Given the description of an element on the screen output the (x, y) to click on. 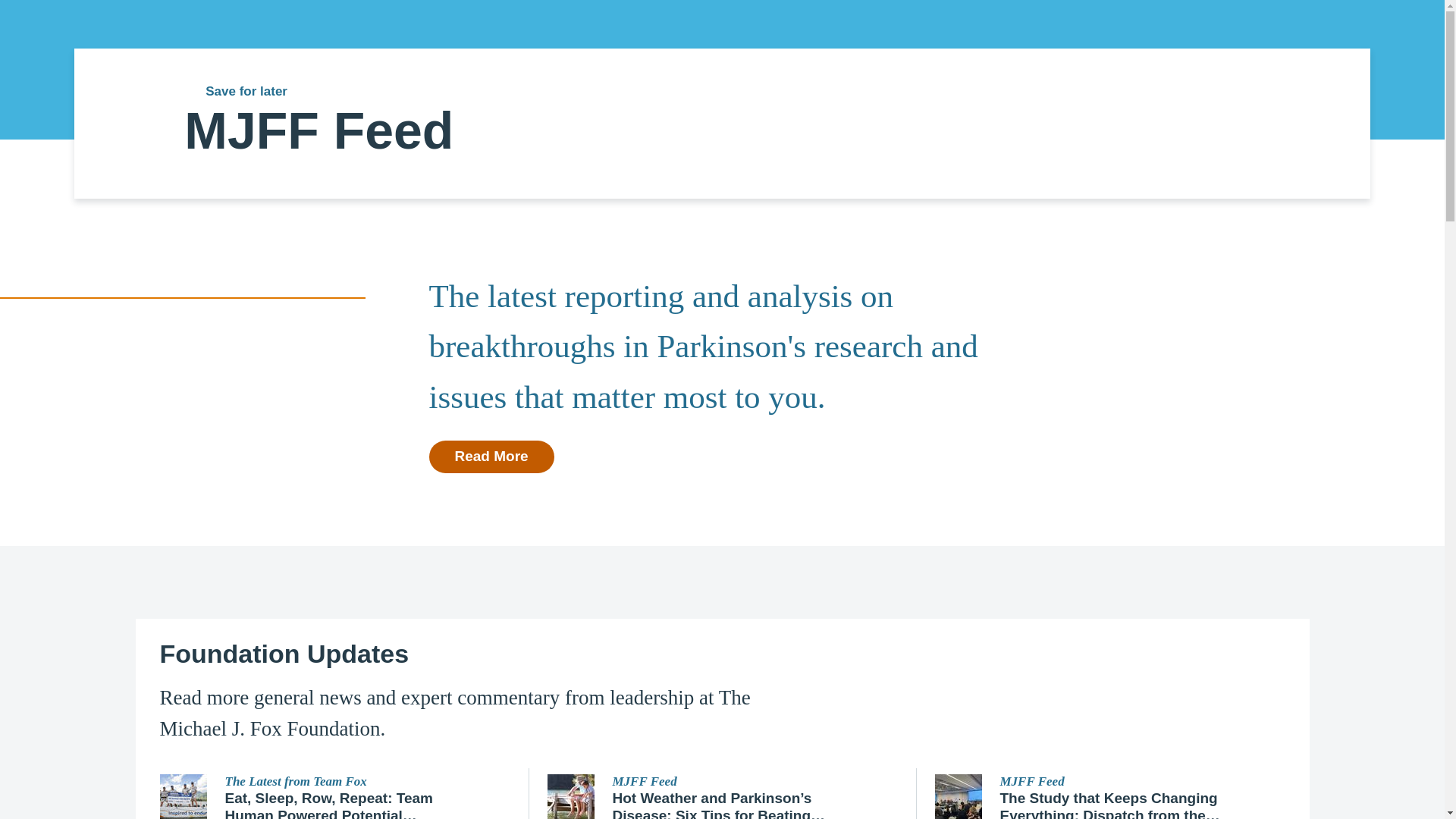
Skip to main content (96, 7)
